Given the description of an element on the screen output the (x, y) to click on. 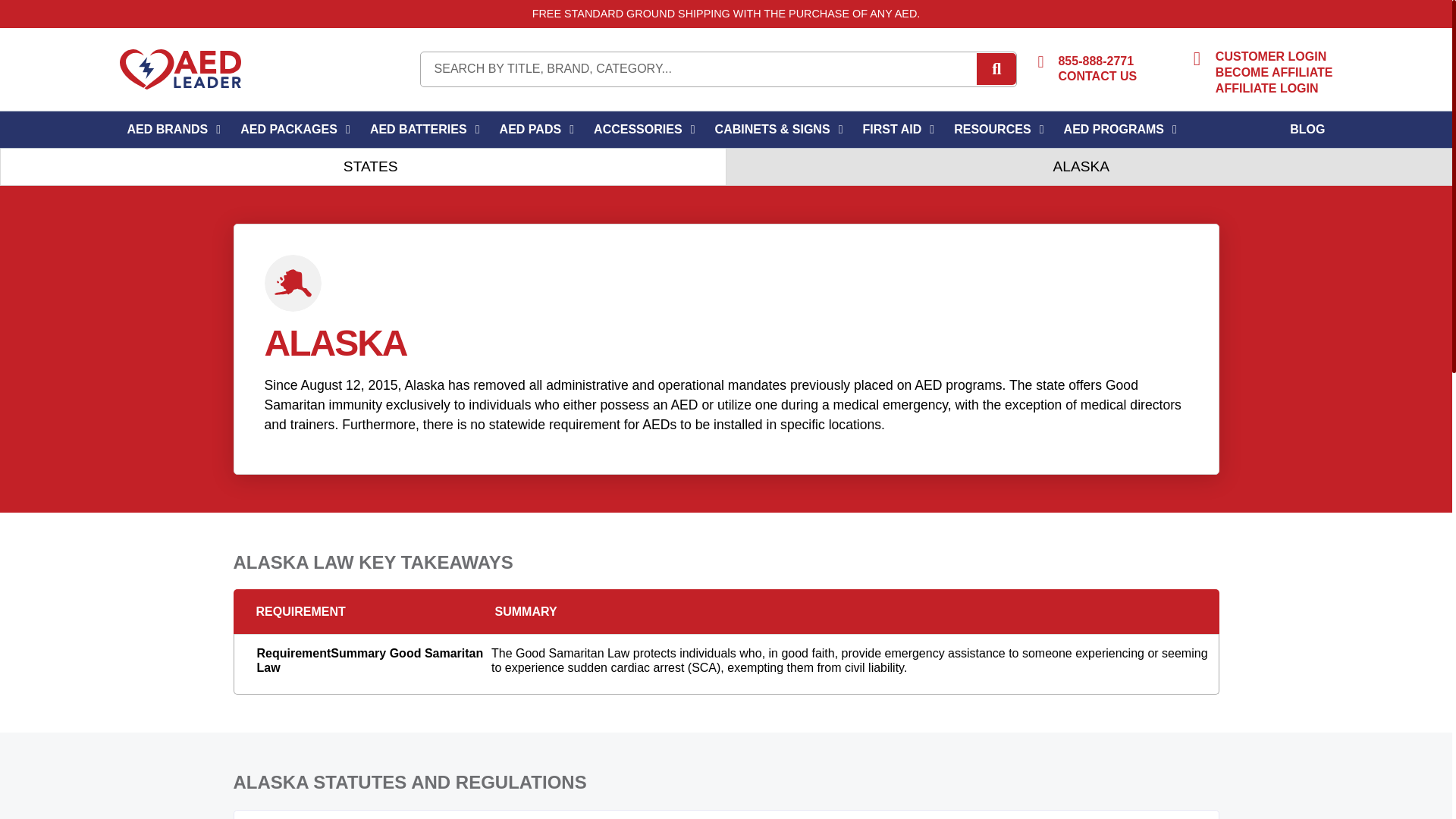
CUSTOMER LOGIN (1270, 56)
AFFILIATE LOGIN (1267, 88)
AED BRANDS (168, 129)
855-888-2771 (1096, 60)
CONTACT US (1097, 76)
BECOME AFFILIATE (1274, 72)
